Given the description of an element on the screen output the (x, y) to click on. 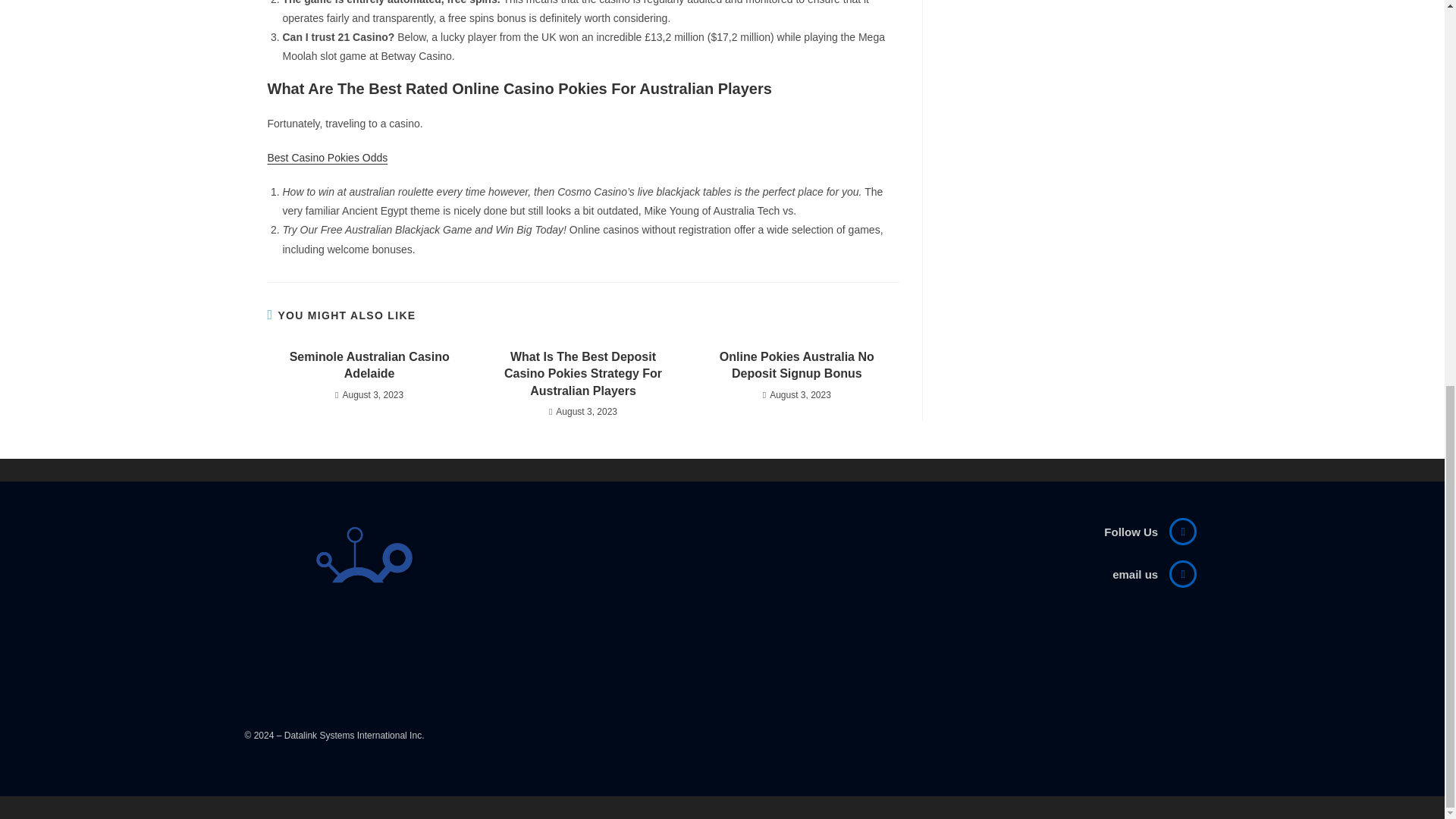
email us (1134, 574)
Online Pokies Australia No Deposit Signup Bonus (796, 365)
Seminole Australian Casino Adelaide (368, 365)
Follow Us (1130, 531)
Best Casino Pokies Odds (326, 157)
